Given the description of an element on the screen output the (x, y) to click on. 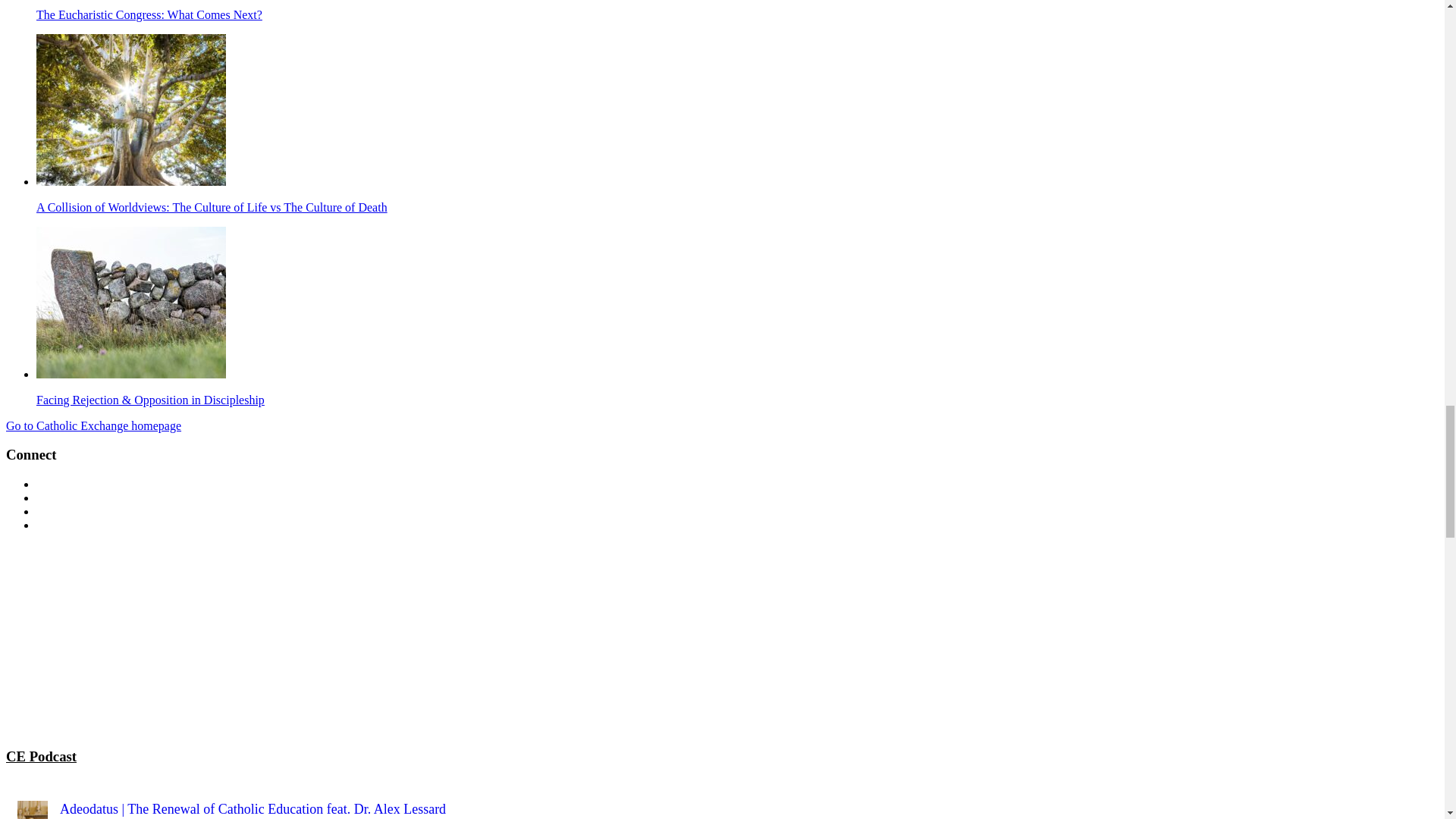
The Eucharistic Congress: What Comes Next? (149, 14)
The Eucharistic Congress: What Comes Next? (149, 14)
3rd party ad content (118, 638)
CE Podcast (41, 756)
